Given the description of an element on the screen output the (x, y) to click on. 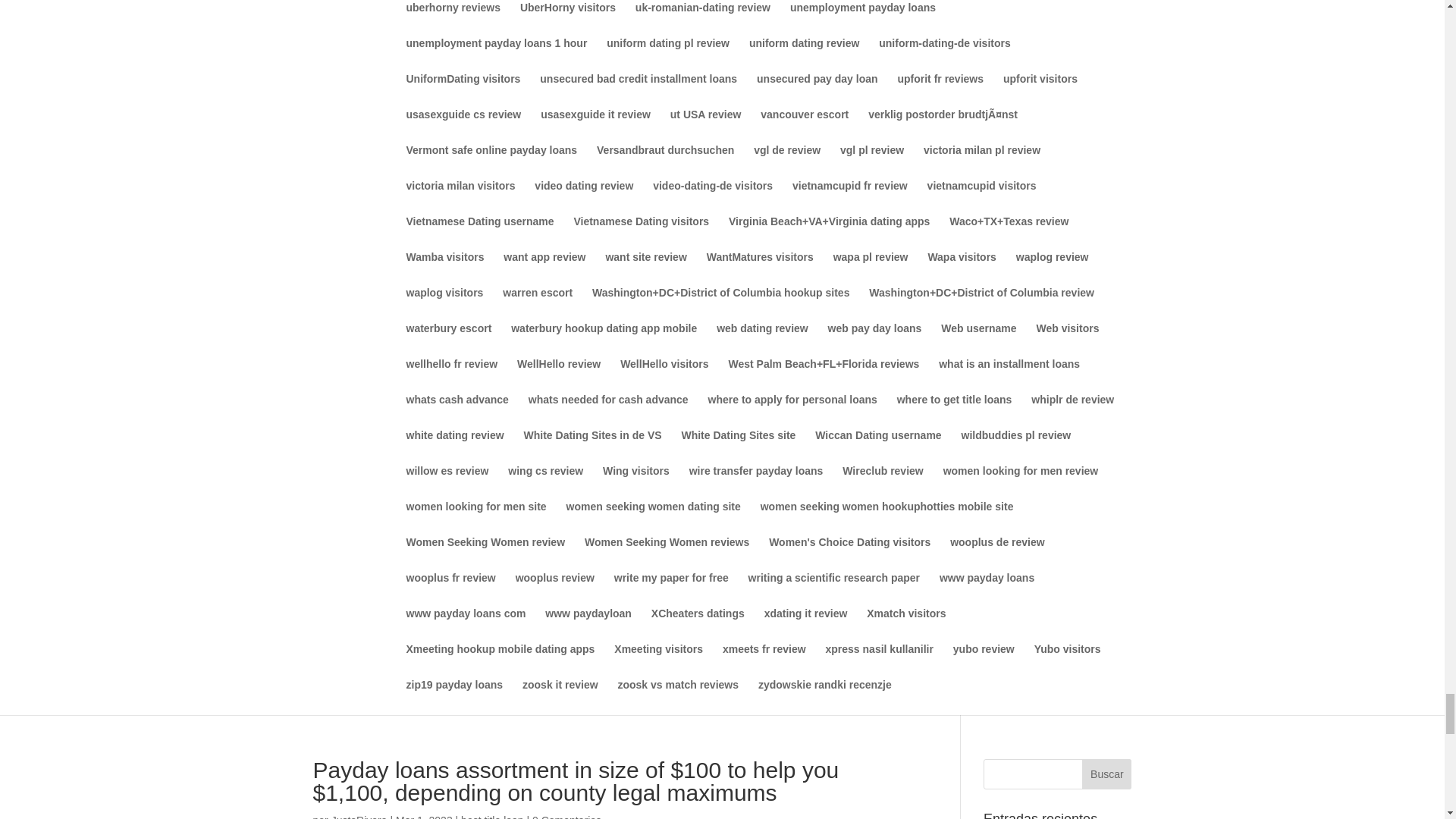
Buscar (1106, 774)
Mensajes de JustoRivera (359, 816)
